Given the description of an element on the screen output the (x, y) to click on. 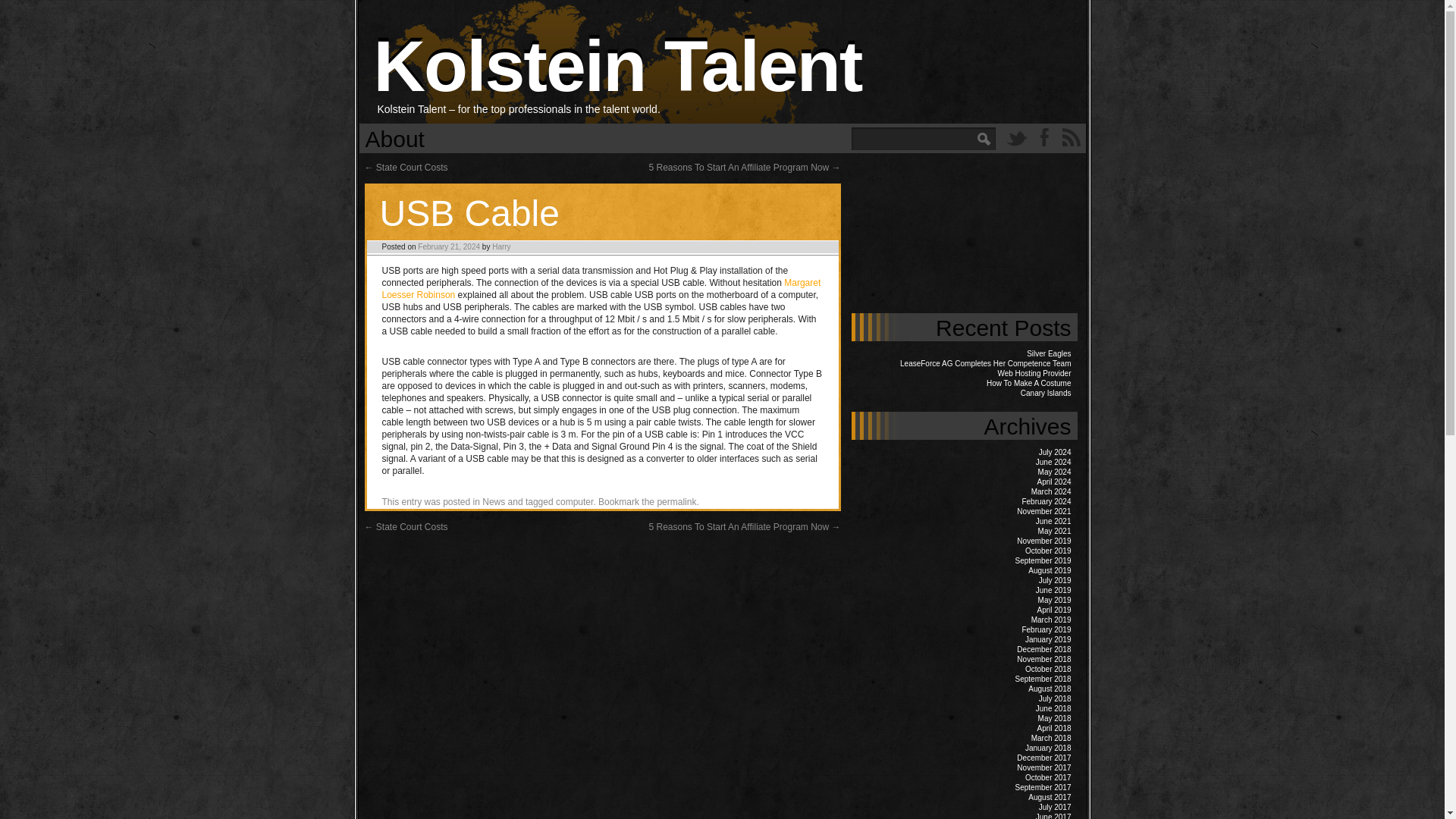
Permalink to USB Cable (675, 501)
Margaret Loesser Robinson (601, 288)
Web Hosting Provider (1033, 373)
Facebook (1043, 136)
About (394, 138)
April 2019 (1053, 610)
July 2024 (1055, 451)
March 2024 (1050, 491)
Search (20, 7)
Kolstein Talent (616, 65)
